Given the description of an element on the screen output the (x, y) to click on. 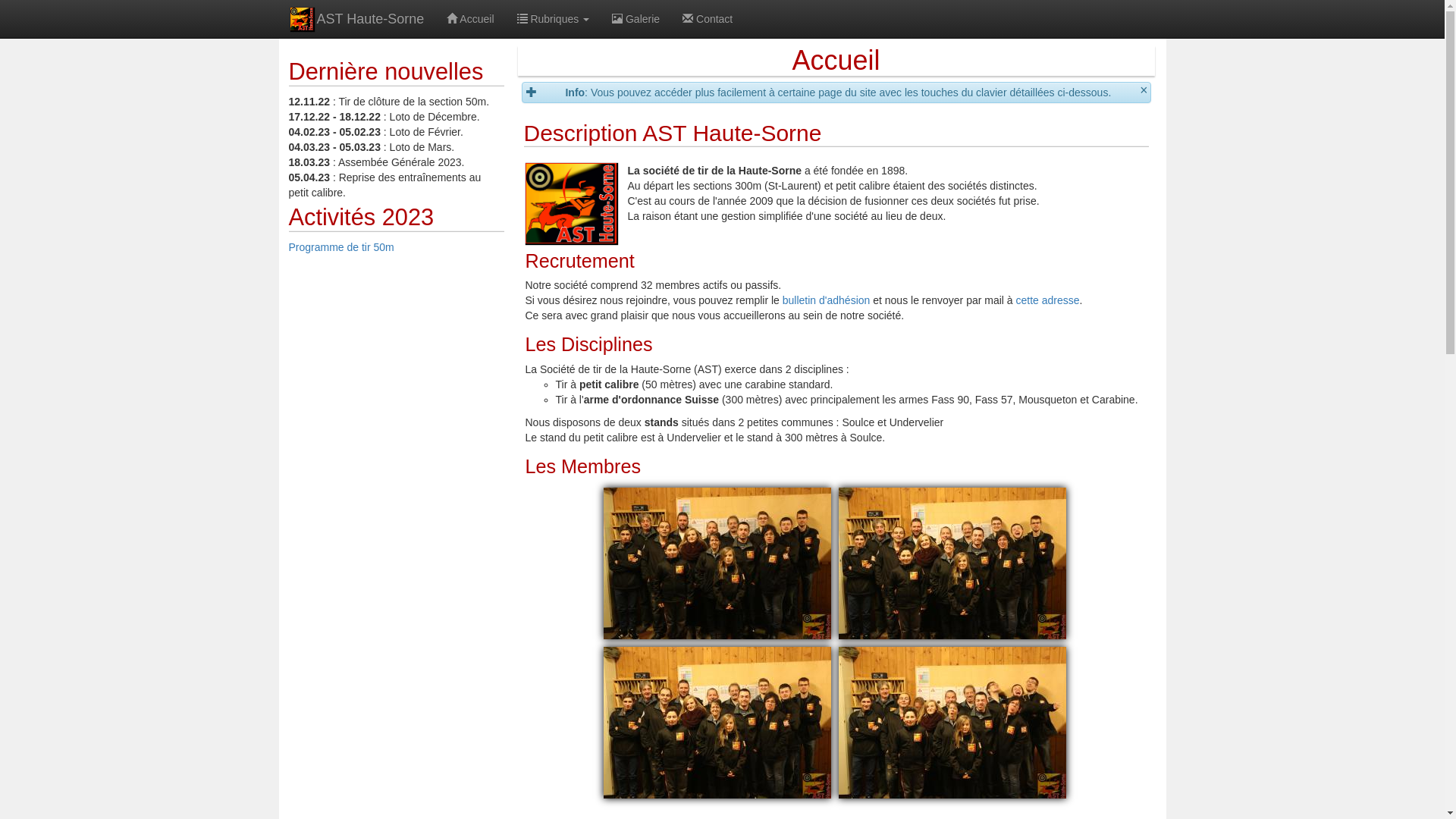
Photo de groupe des membres Element type: hover (952, 563)
Accueil Element type: text (470, 18)
AST Haute-Sorne Element type: text (357, 18)
Photo de groupe des membres Element type: hover (717, 563)
Photo de groupe des membres Element type: hover (952, 722)
Programme de tir 50m Element type: text (340, 247)
Contact Element type: text (707, 18)
Photo de groupe des membres Element type: hover (717, 722)
Galerie Element type: text (635, 18)
Rubriques Element type: text (552, 18)
cette adresse Element type: text (1047, 300)
